Given the description of an element on the screen output the (x, y) to click on. 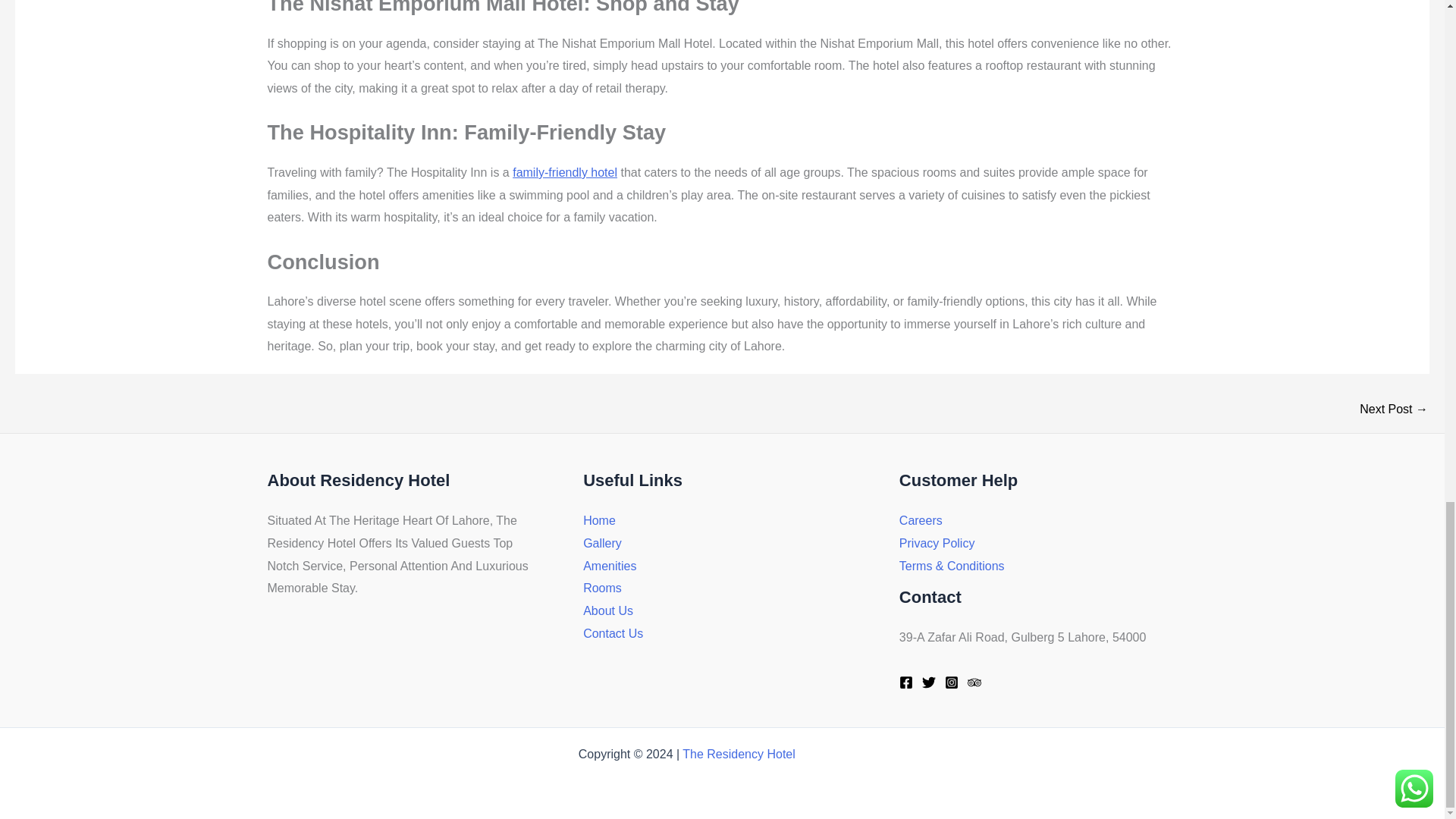
The Residency Hotel (738, 753)
About Us (608, 610)
Careers (920, 520)
Home (599, 520)
Contact Us (613, 633)
Amenities (609, 565)
Rooms (602, 587)
Gallery (602, 543)
family-friendly hotel (564, 172)
Privacy Policy (937, 543)
Ali Shahbaz (834, 753)
